Given the description of an element on the screen output the (x, y) to click on. 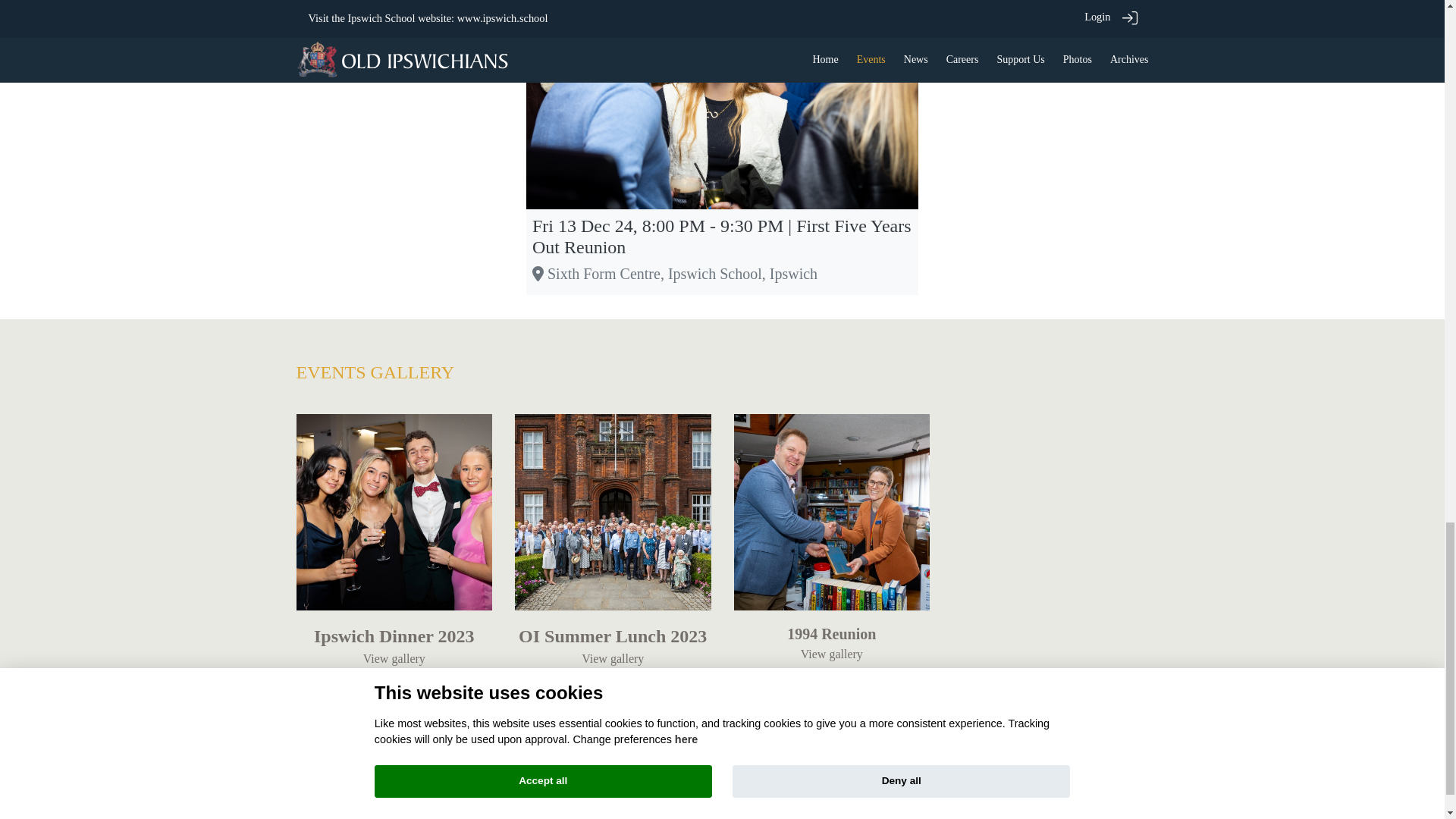
Facebook (668, 752)
SDS Archive (765, 752)
